Given the description of an element on the screen output the (x, y) to click on. 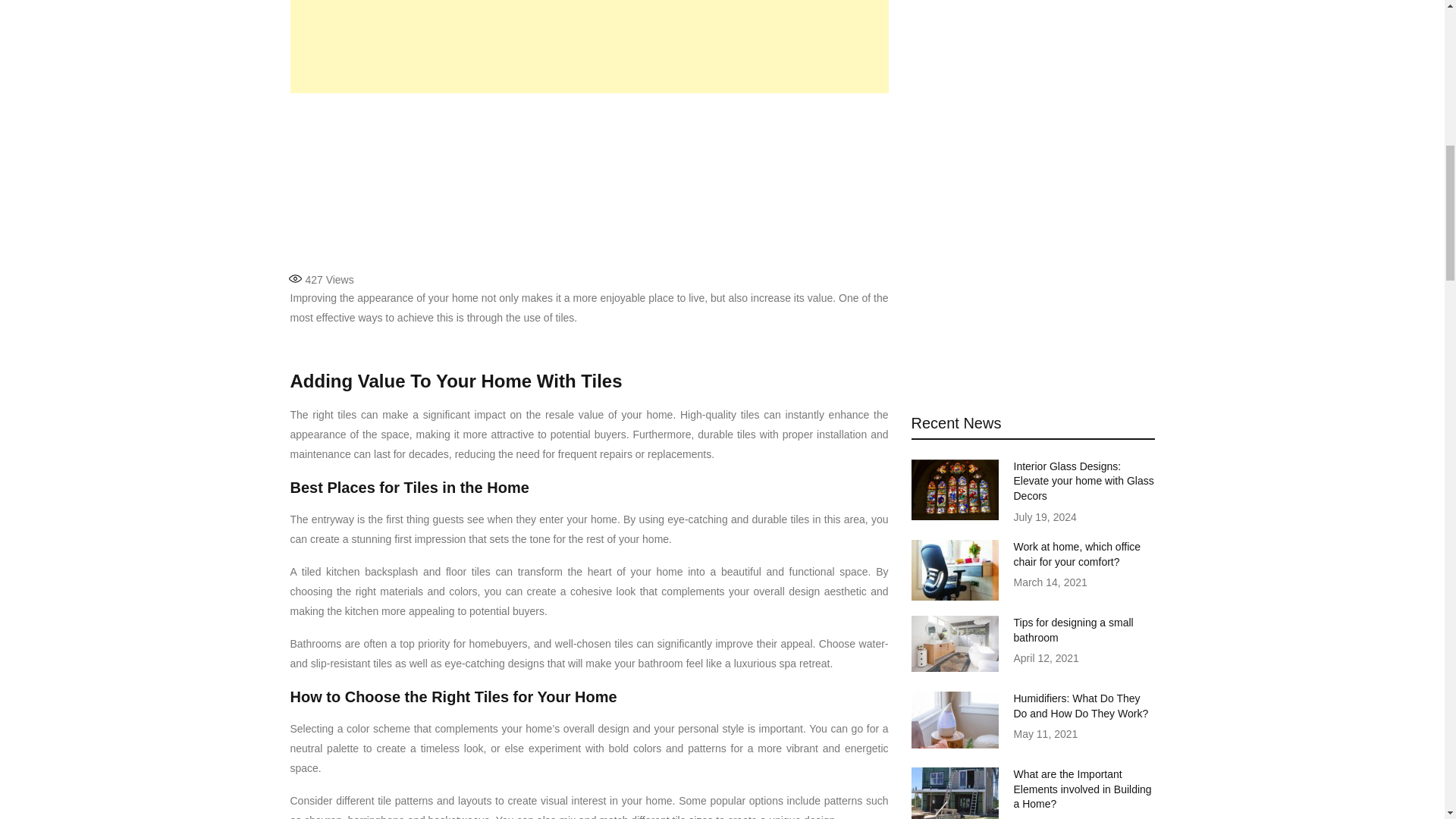
Advertisement (588, 181)
